Given the description of an element on the screen output the (x, y) to click on. 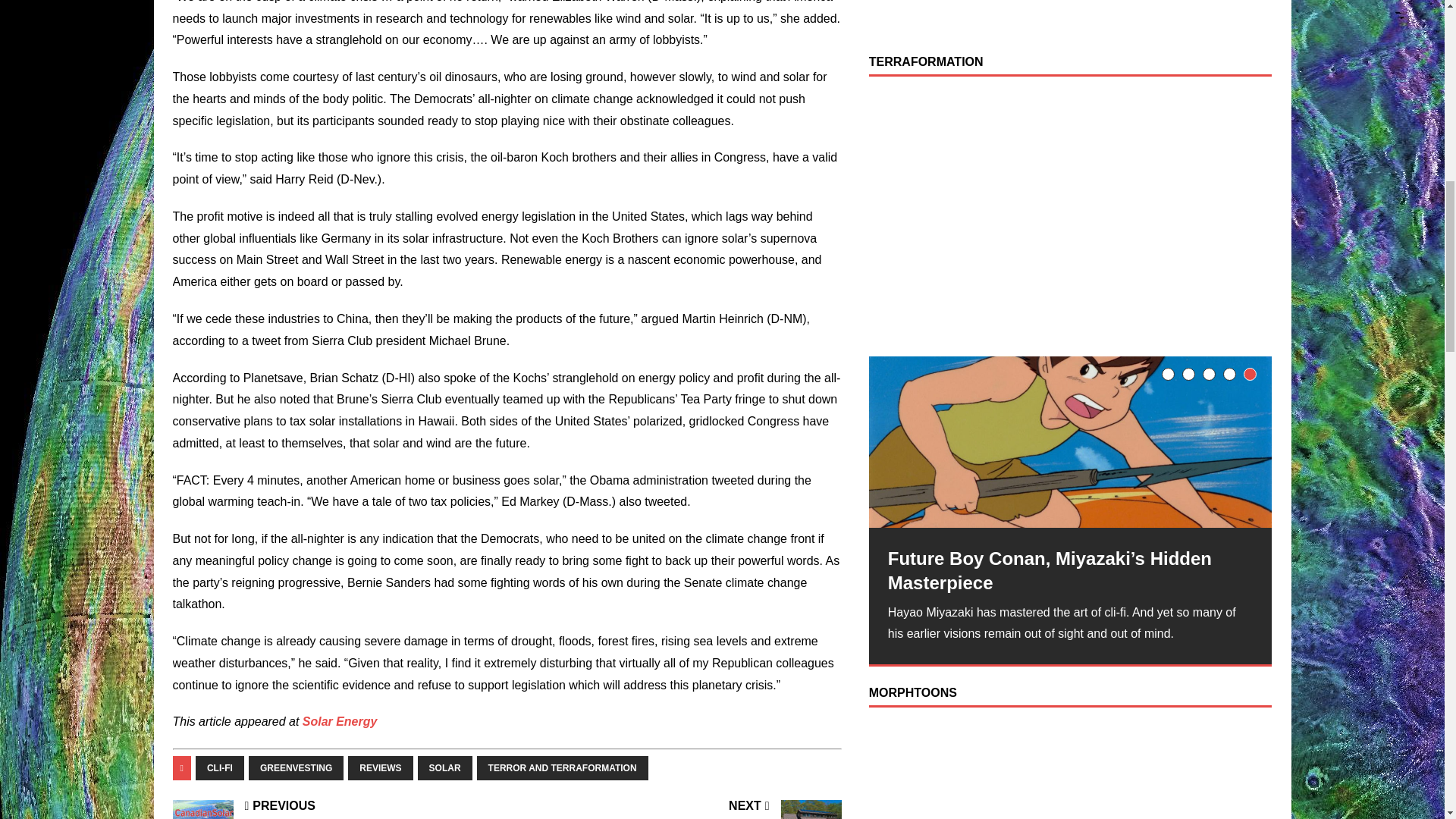
TERROR AND TERRAFORMATION (562, 767)
YouTube video player (1070, 13)
3 (1208, 373)
2 (1188, 373)
SOLAR (444, 767)
Solar Energy (339, 721)
CLI-FI (219, 767)
REVIEWS (379, 767)
YouTube video player (1070, 770)
1 (1167, 373)
GREENVESTING (295, 767)
YouTube video player (1070, 210)
